Given the description of an element on the screen output the (x, y) to click on. 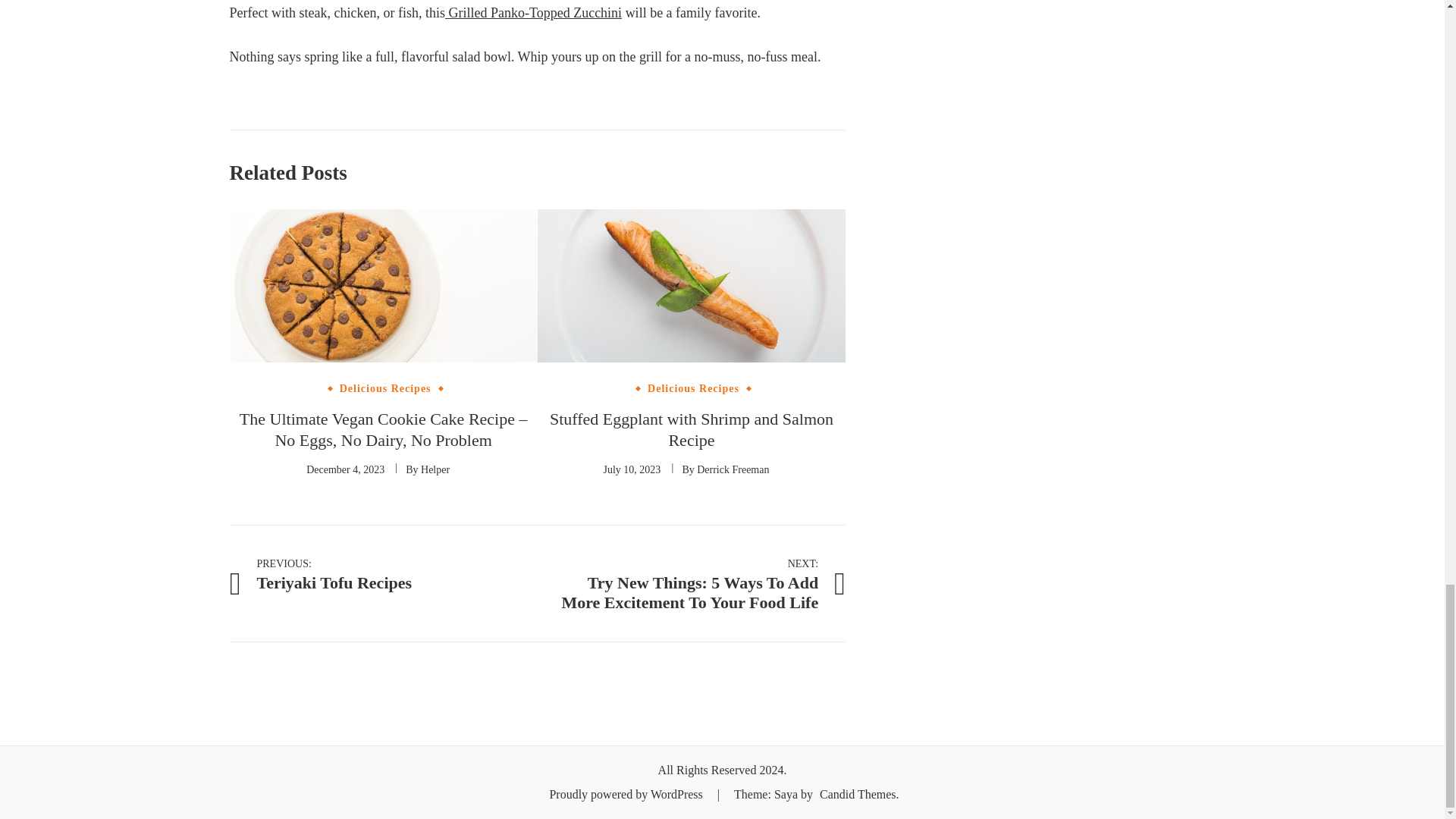
Helper (434, 469)
December 4, 2023 (344, 469)
Derrick Freeman (326, 572)
Grilled Panko-Topped Zucchini (732, 469)
Proudly powered by WordPress (533, 12)
Delicious Recipes (626, 793)
July 10, 2023 (385, 388)
Delicious Recipes (632, 469)
Candid Themes (692, 388)
Stuffed Eggplant with Shrimp and Salmon Recipe (857, 793)
